Given the description of an element on the screen output the (x, y) to click on. 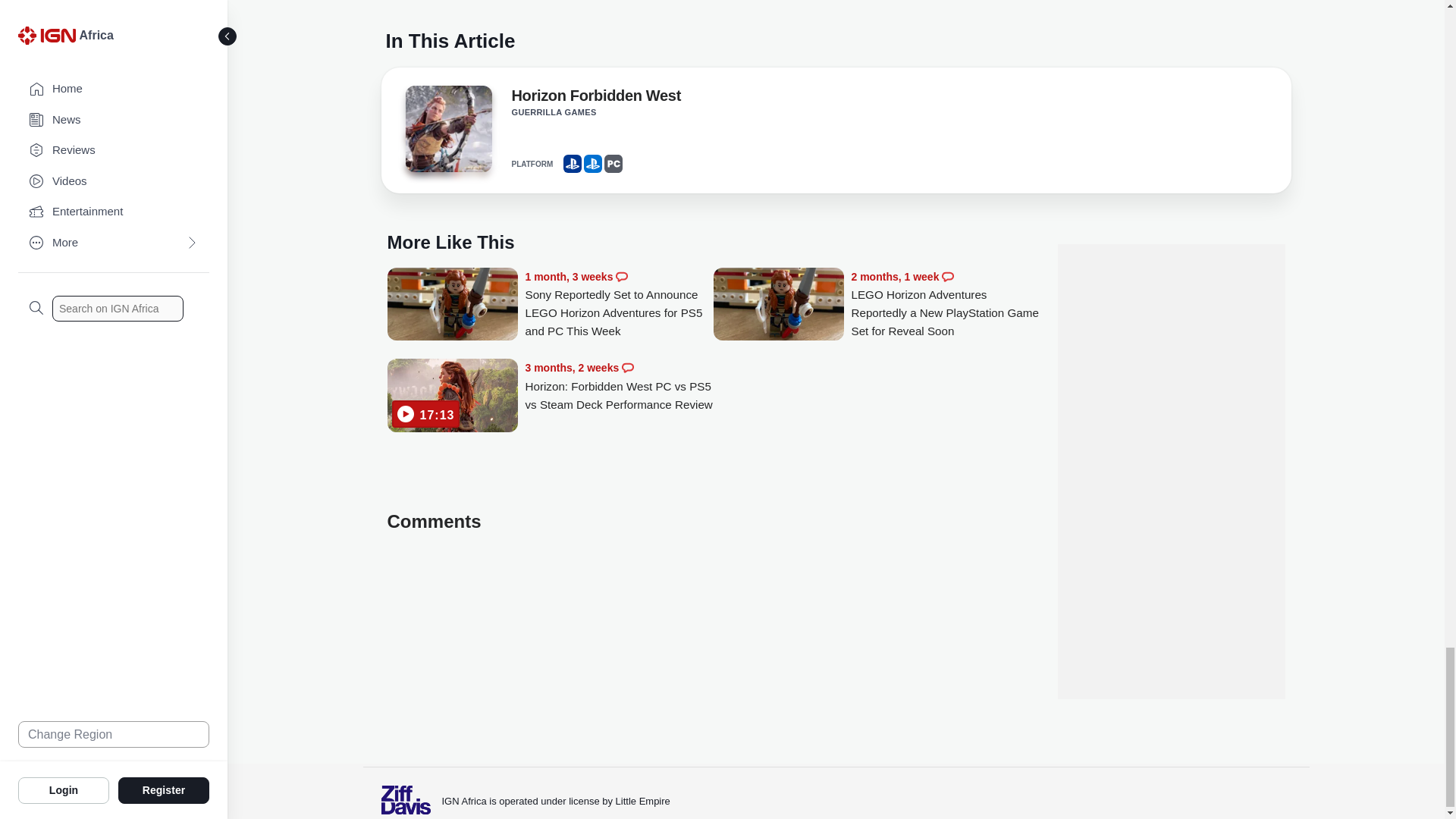
Comments (621, 276)
Comments (627, 367)
Horizon Forbidden West (595, 97)
PS4 (571, 163)
Horizon Forbidden West (448, 133)
PS5 (592, 163)
Horizon Forbidden West (595, 97)
PC (613, 163)
Horizon Forbidden West (448, 128)
